Given the description of an element on the screen output the (x, y) to click on. 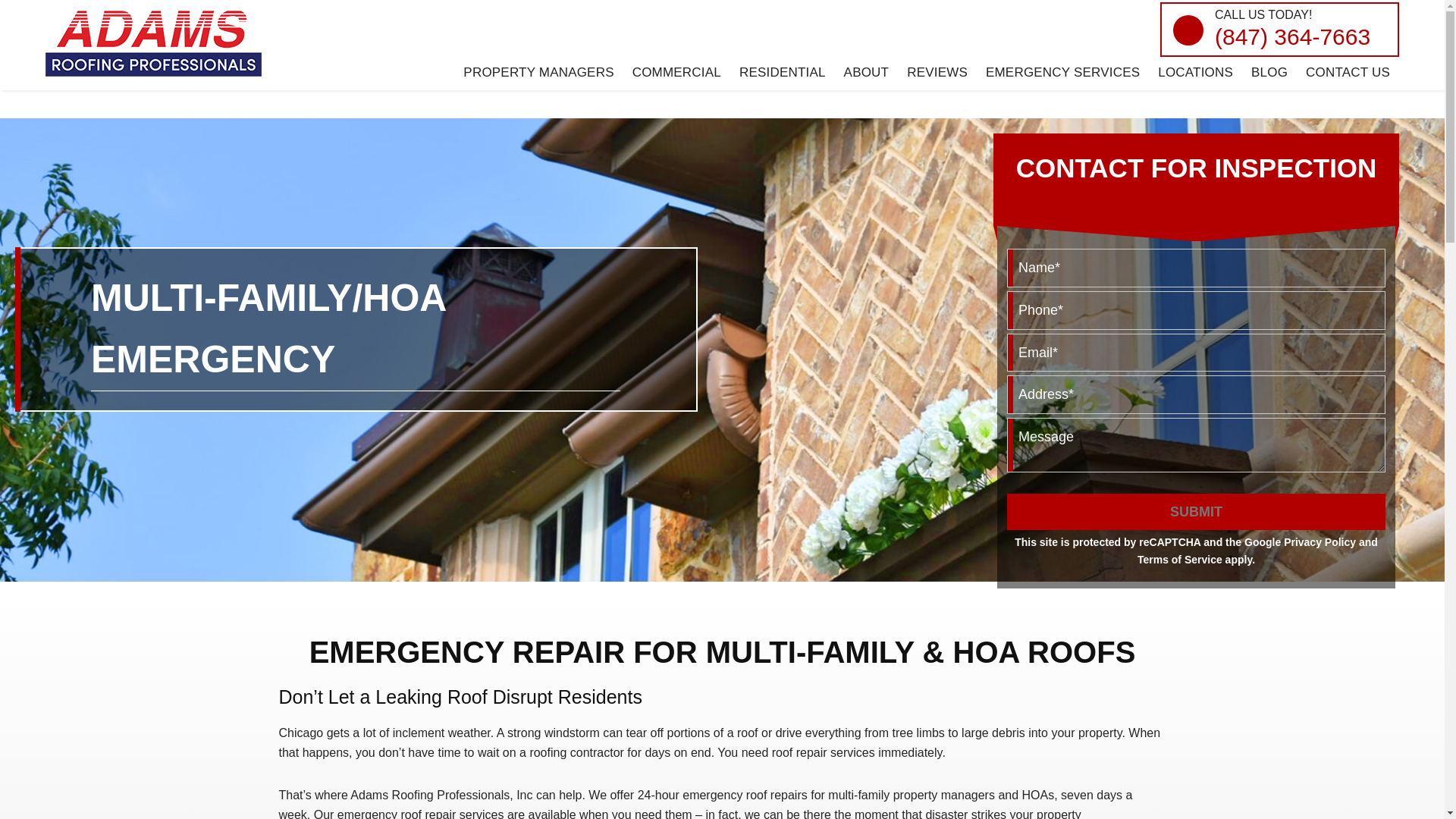
Adams Roofing Professionals, Inc (97, 109)
ABOUT (866, 71)
Adams Roofing Professionals, Inc (153, 43)
LOCATIONS (1194, 71)
PROPERTY MANAGERS (538, 71)
EMERGENCY SERVICES (1062, 71)
SUBMIT (1196, 511)
RESIDENTIAL (782, 71)
REVIEWS (937, 71)
